Given the description of an element on the screen output the (x, y) to click on. 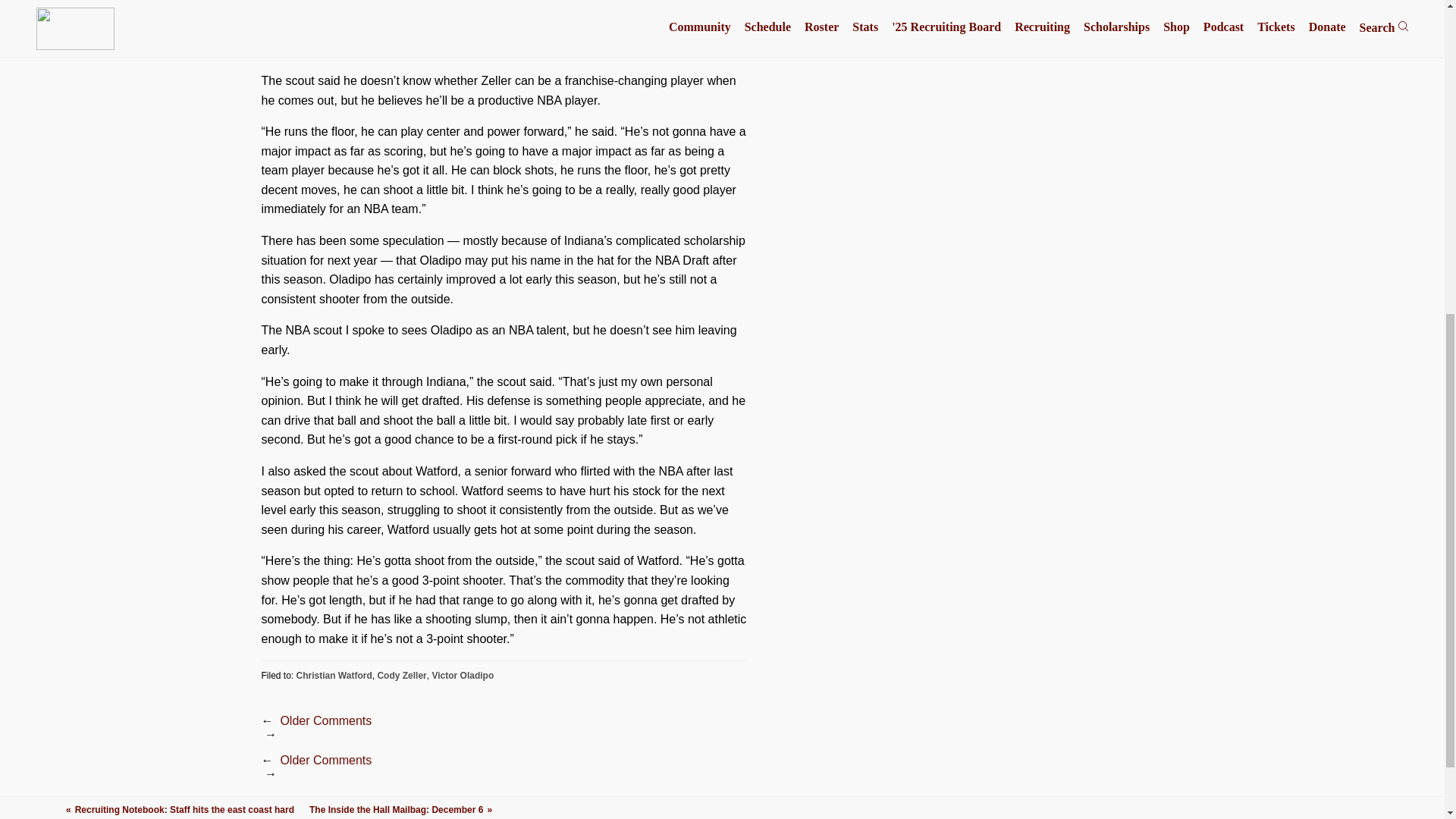
Older Comments (325, 720)
Victor Oladipo (461, 675)
Older Comments (325, 759)
Cody Zeller (401, 675)
Christian Watford (334, 675)
